Given the description of an element on the screen output the (x, y) to click on. 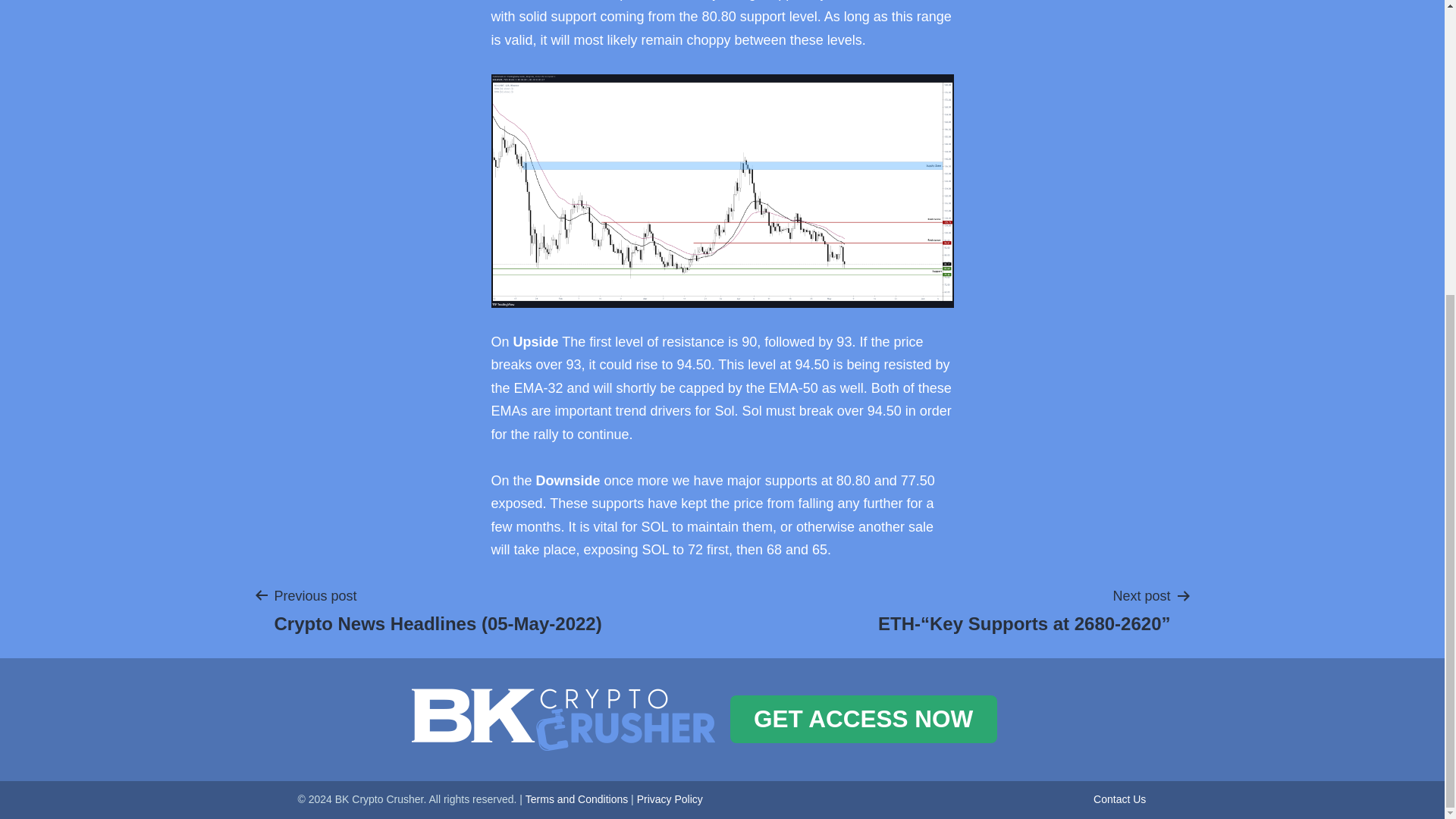
Terms and Conditions (576, 799)
Privacy Policy (670, 799)
BKCryptoCrusher-logo-reversed (562, 719)
Contact Us (1119, 799)
GET ACCESS NOW (862, 718)
